Given the description of an element on the screen output the (x, y) to click on. 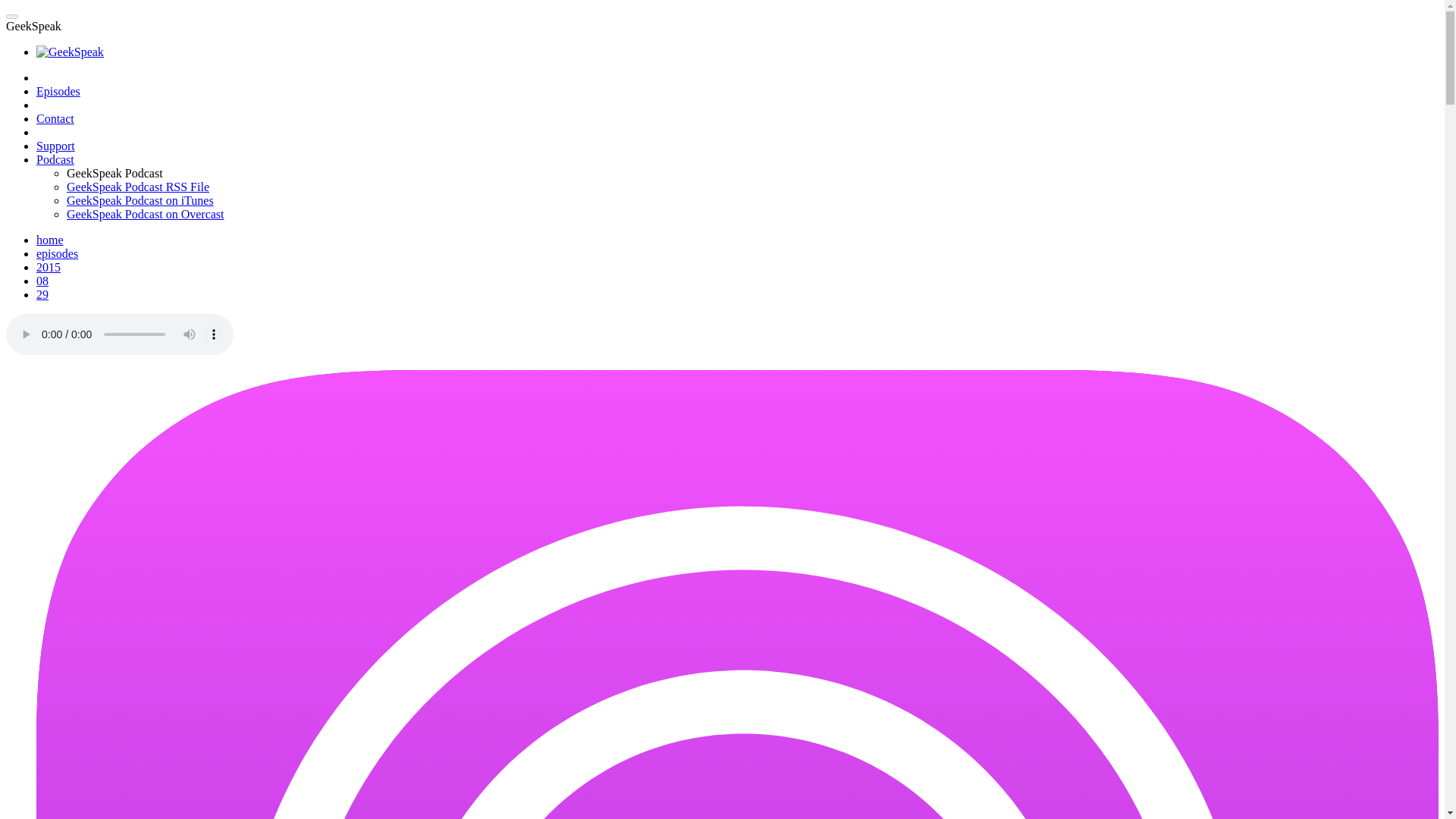
Podcast (55, 159)
29 (42, 294)
episodes (57, 253)
Episodes (58, 91)
home (50, 239)
GeekSpeak Podcast on iTunes (140, 200)
08 (42, 280)
Support (55, 145)
GeekSpeak Podcast on Overcast (145, 214)
Contact (55, 118)
